Given the description of an element on the screen output the (x, y) to click on. 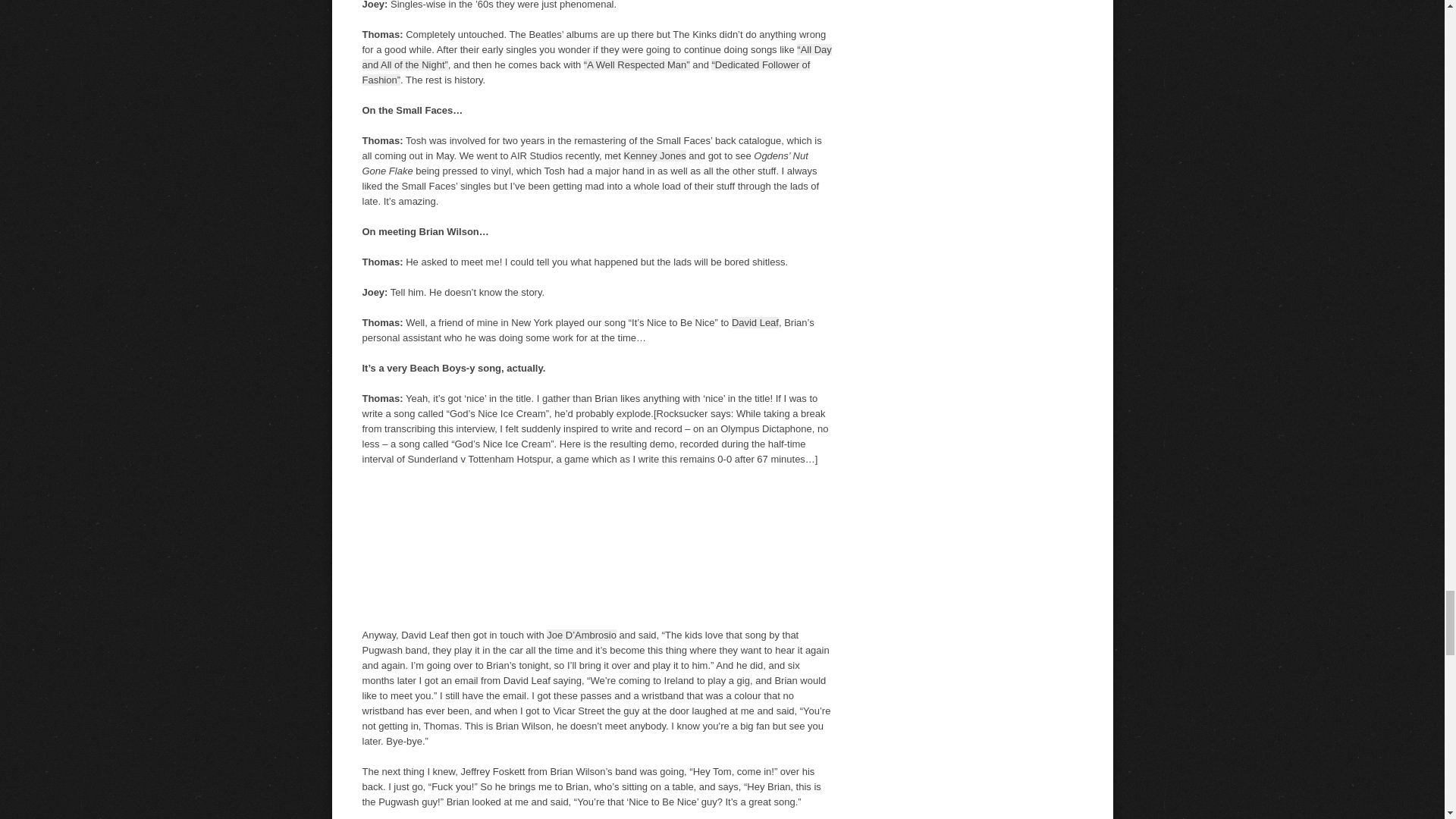
David Leaf (755, 322)
Kenney Jones (654, 155)
